Given the description of an element on the screen output the (x, y) to click on. 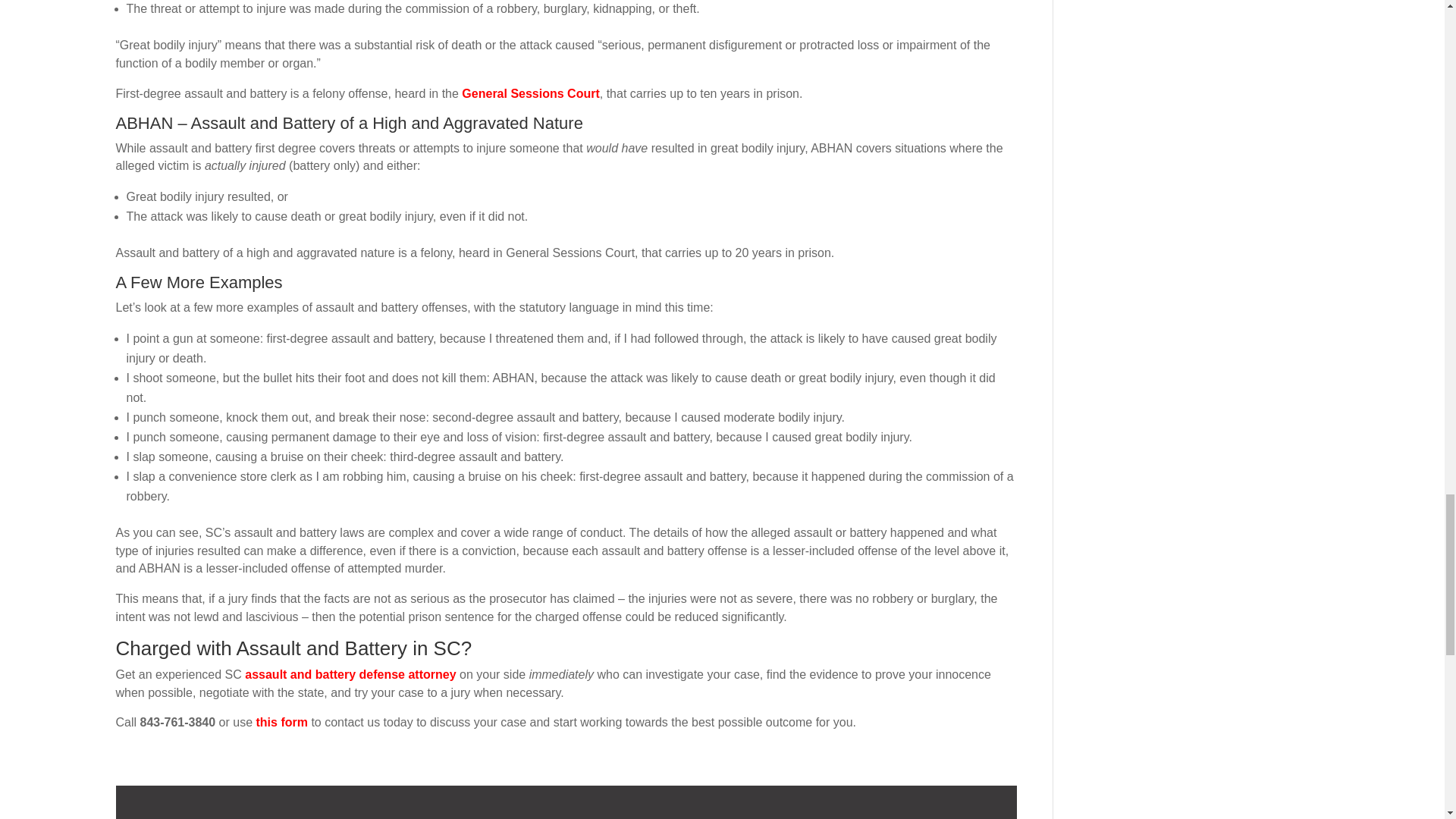
this form (281, 721)
assault and battery defense attorney (349, 674)
General Sessions Court (529, 92)
